Given the description of an element on the screen output the (x, y) to click on. 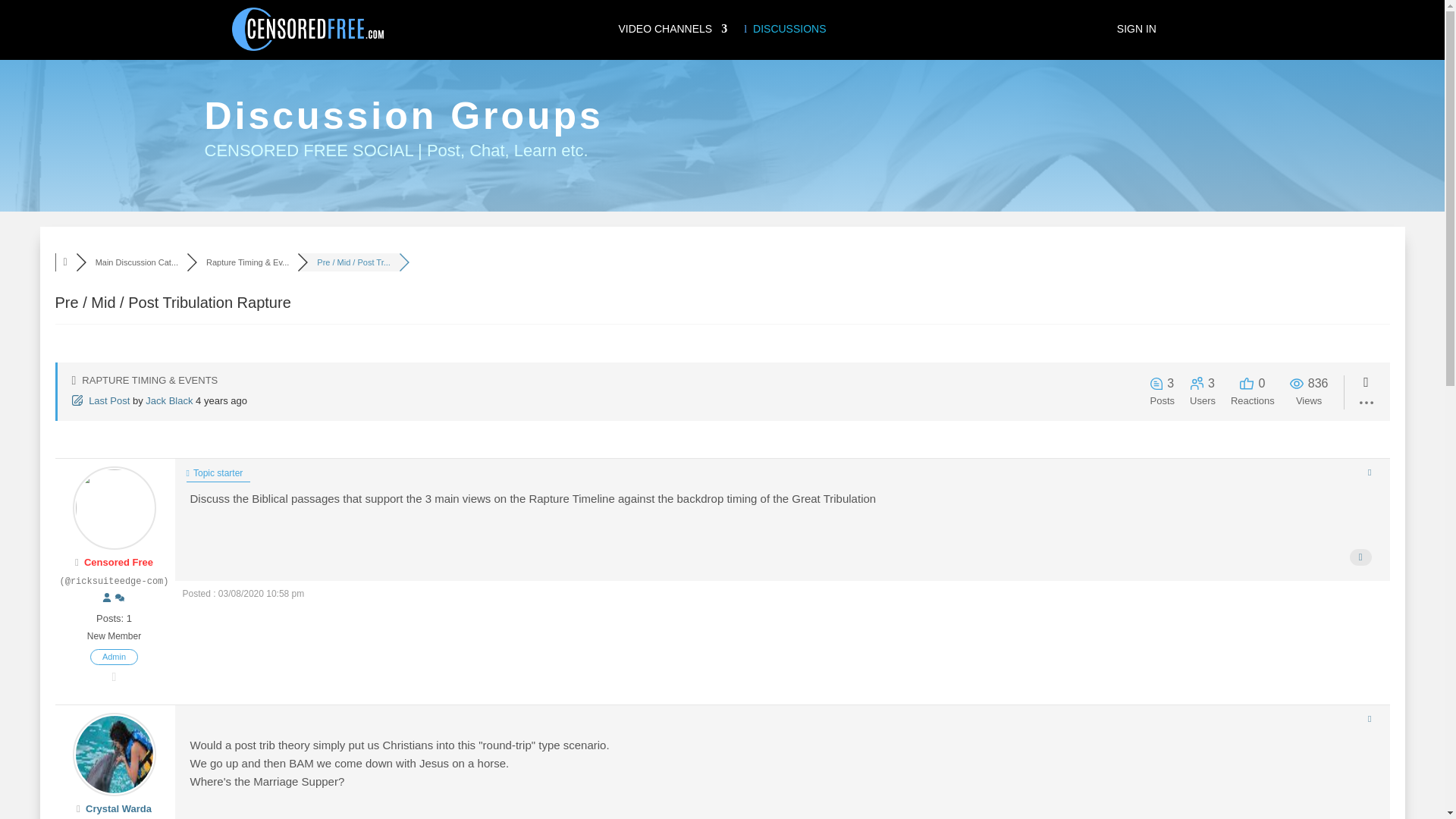
Member Rating Badge (114, 677)
Jack Black (168, 400)
Censored Free (118, 562)
Main Discussion Categories (136, 261)
VIDEO CHANNELS (671, 31)
Crystal Warda (118, 808)
SIGN IN (1136, 31)
Usergroup (114, 657)
Rating Title (114, 637)
DISCUSSIONS (784, 31)
